Given the description of an element on the screen output the (x, y) to click on. 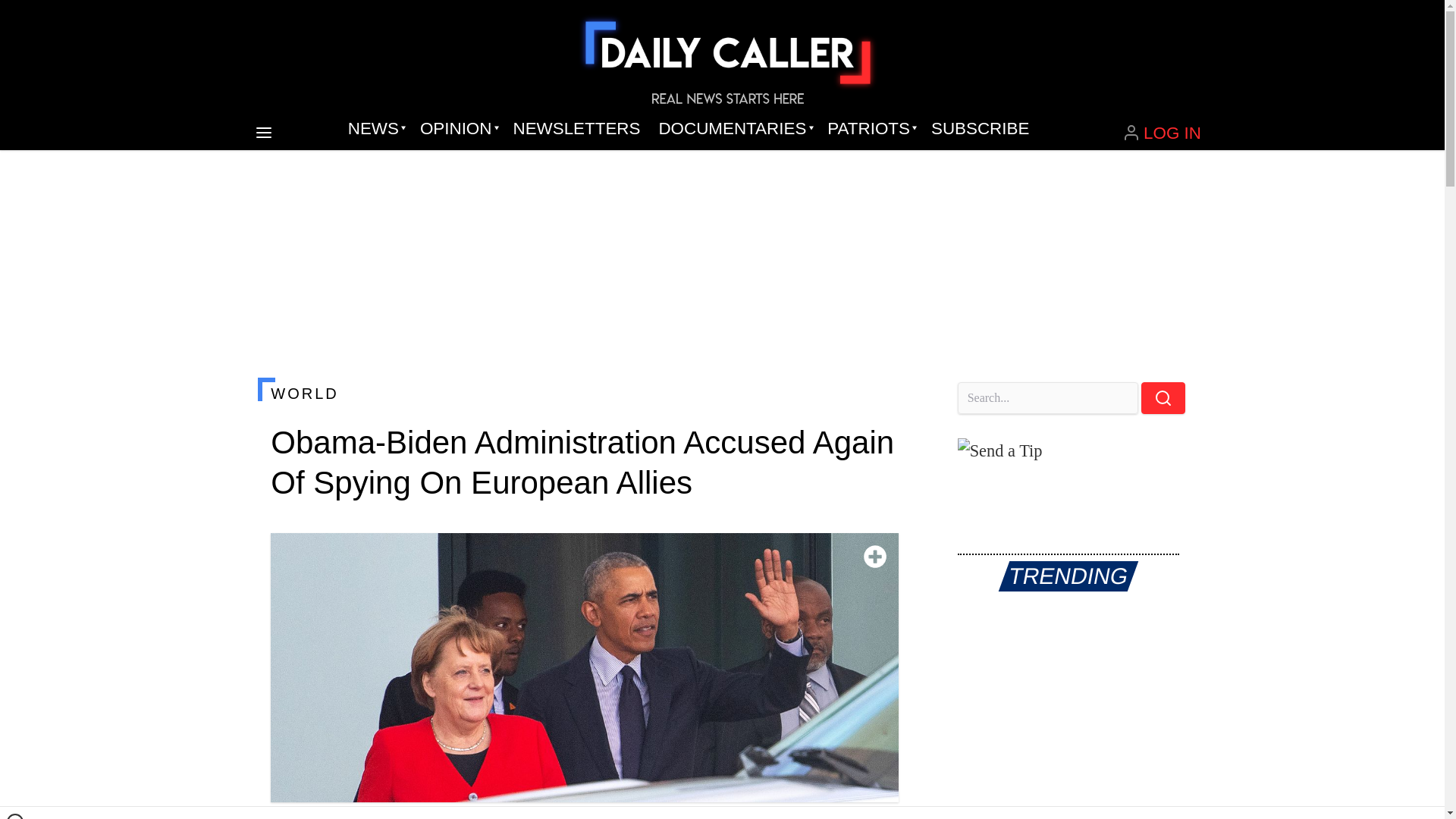
DOCUMENTARIES (733, 128)
NEWSLETTERS (576, 128)
SUBSCRIBE (979, 128)
OPINION (456, 128)
PATRIOTS (869, 128)
NEWS (374, 128)
Close window (14, 816)
WORLD (584, 393)
Toggle fullscreen (874, 556)
